Given the description of an element on the screen output the (x, y) to click on. 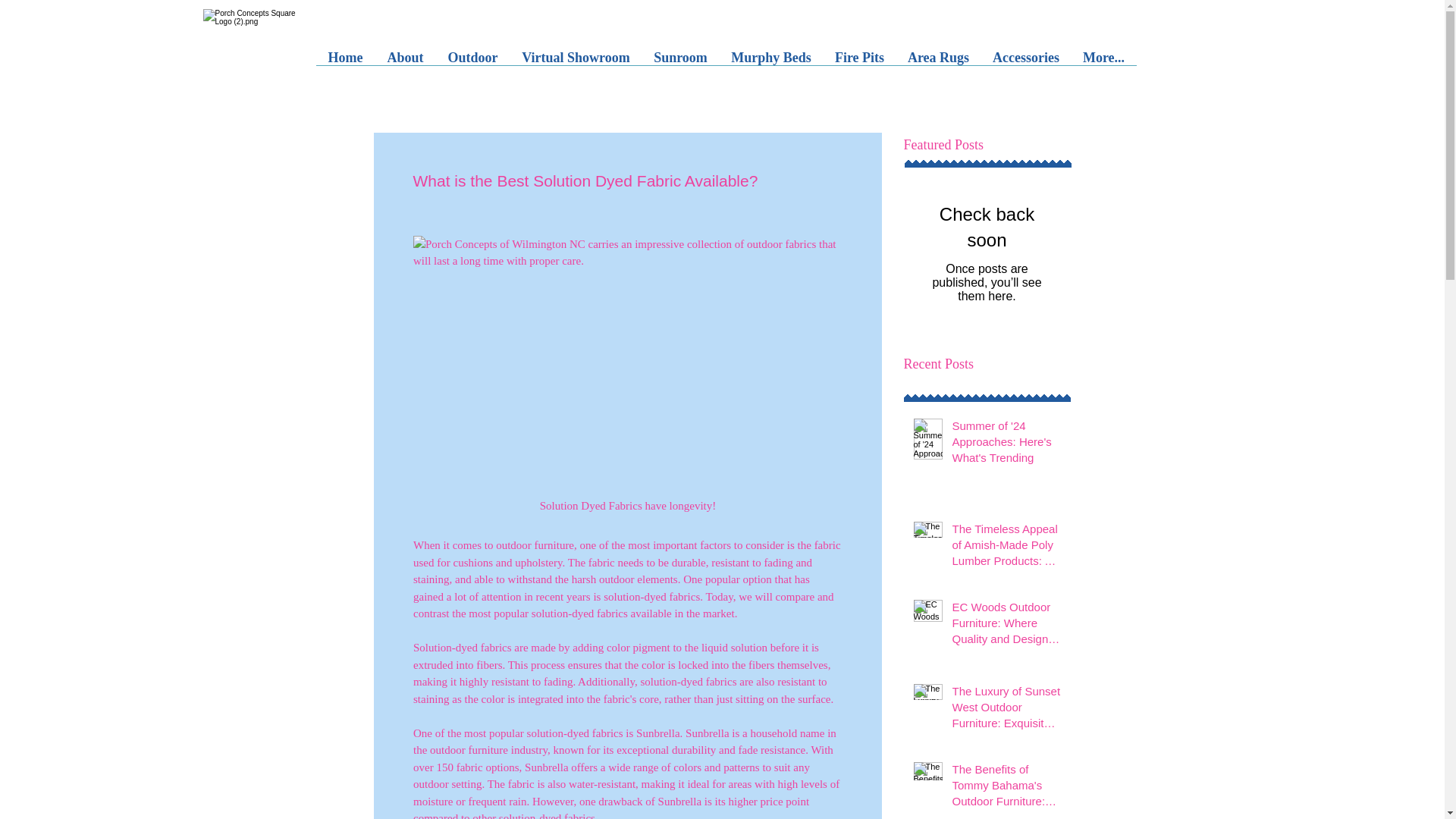
Virtual Showroom (575, 62)
Area Rugs (938, 62)
Summer of '24 Approaches: Here's What's Trending (1006, 444)
Murphy Beds (770, 62)
Home (344, 62)
Sunroom (680, 62)
About (404, 62)
Accessories (1026, 62)
